Given the description of an element on the screen output the (x, y) to click on. 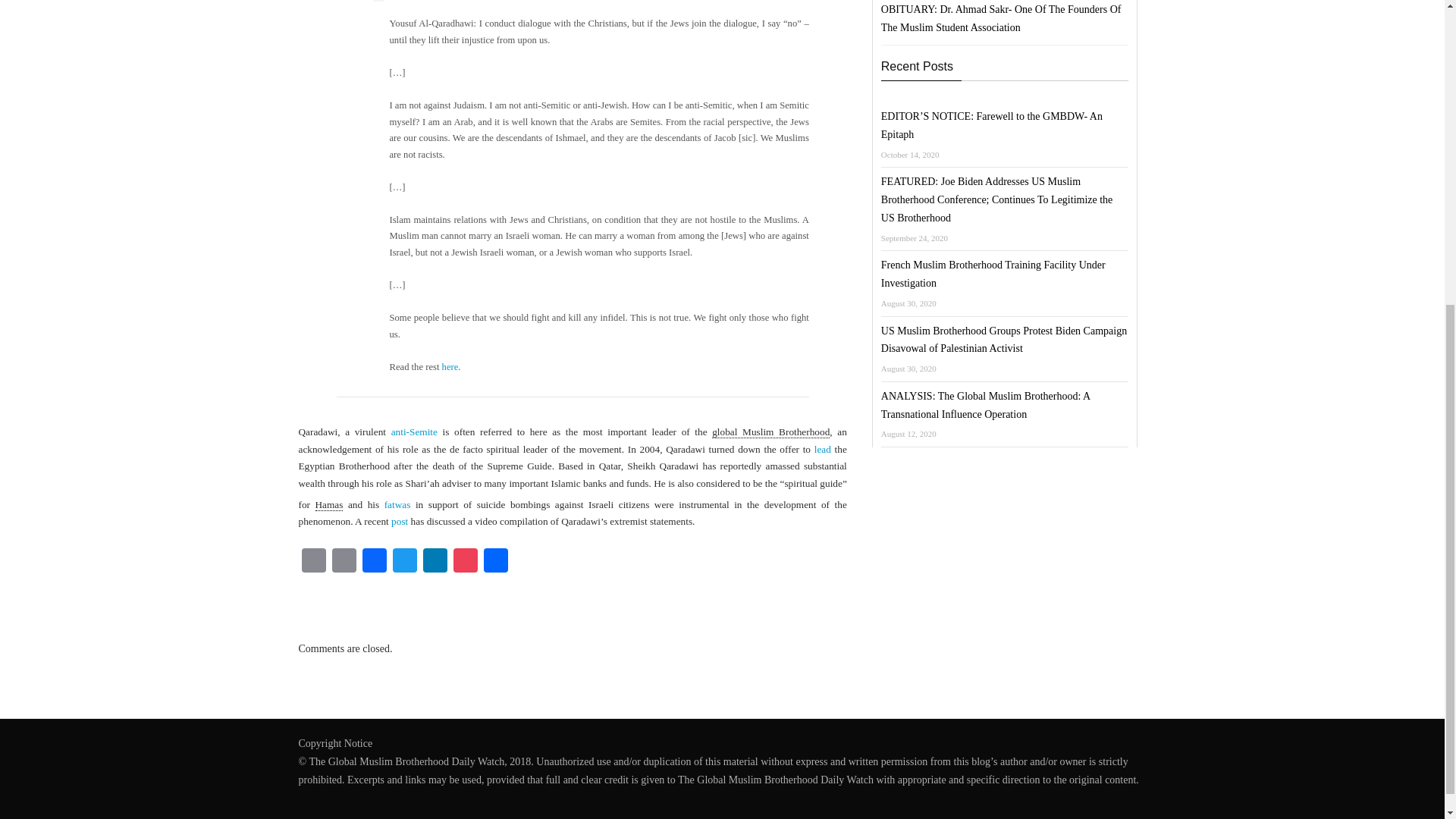
Twitter (405, 561)
Email (313, 561)
Print (344, 561)
Facebook (374, 561)
Facebook (374, 561)
anti-Semite (414, 431)
fatwas (397, 504)
LinkedIn (434, 561)
Email (313, 561)
post (399, 521)
Pocket (464, 561)
global Muslim Brotherhood (770, 431)
Hamas (329, 504)
Twitter (405, 561)
Print (344, 561)
